Given the description of an element on the screen output the (x, y) to click on. 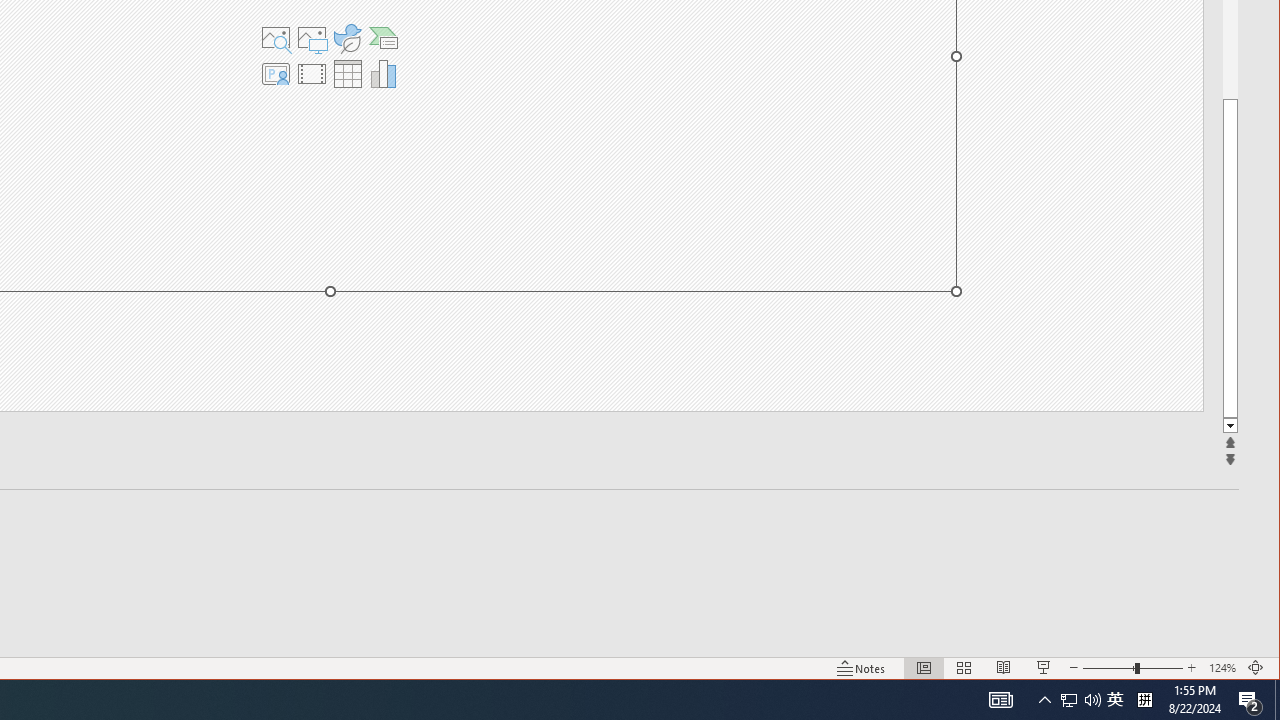
Zoom 124% (1222, 668)
Insert a SmartArt Graphic (383, 38)
Insert Video (311, 74)
Insert an Icon (347, 38)
Stock Images (275, 38)
